Given the description of an element on the screen output the (x, y) to click on. 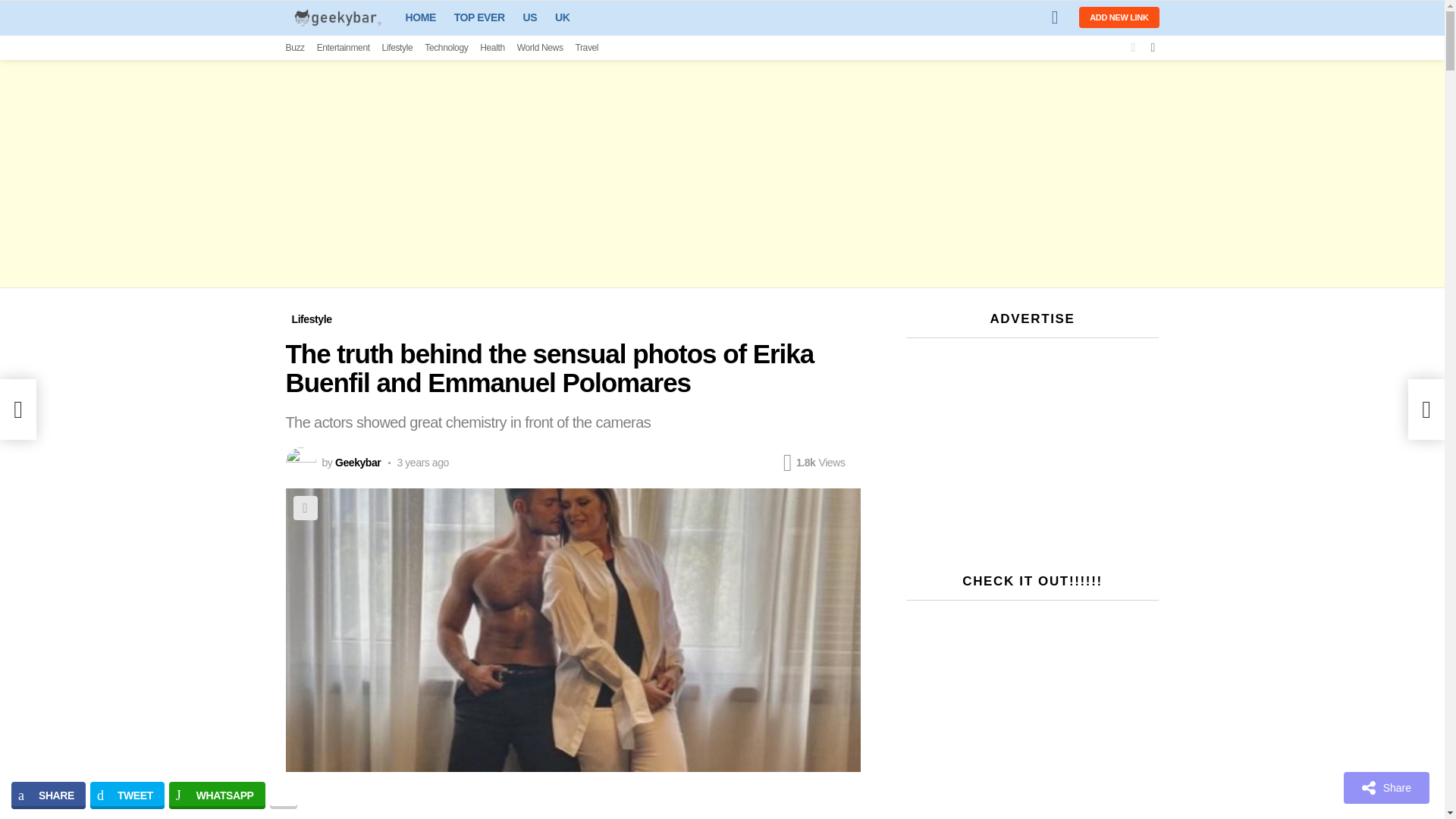
HOME (419, 16)
Technology (446, 47)
UK (561, 16)
Posts by Geekybar (357, 462)
ADD NEW LINK (1118, 16)
US (529, 16)
Lifestyle (311, 319)
May 21, 2021, 9:29 pm (418, 462)
Geekybar (357, 462)
